Given the description of an element on the screen output the (x, y) to click on. 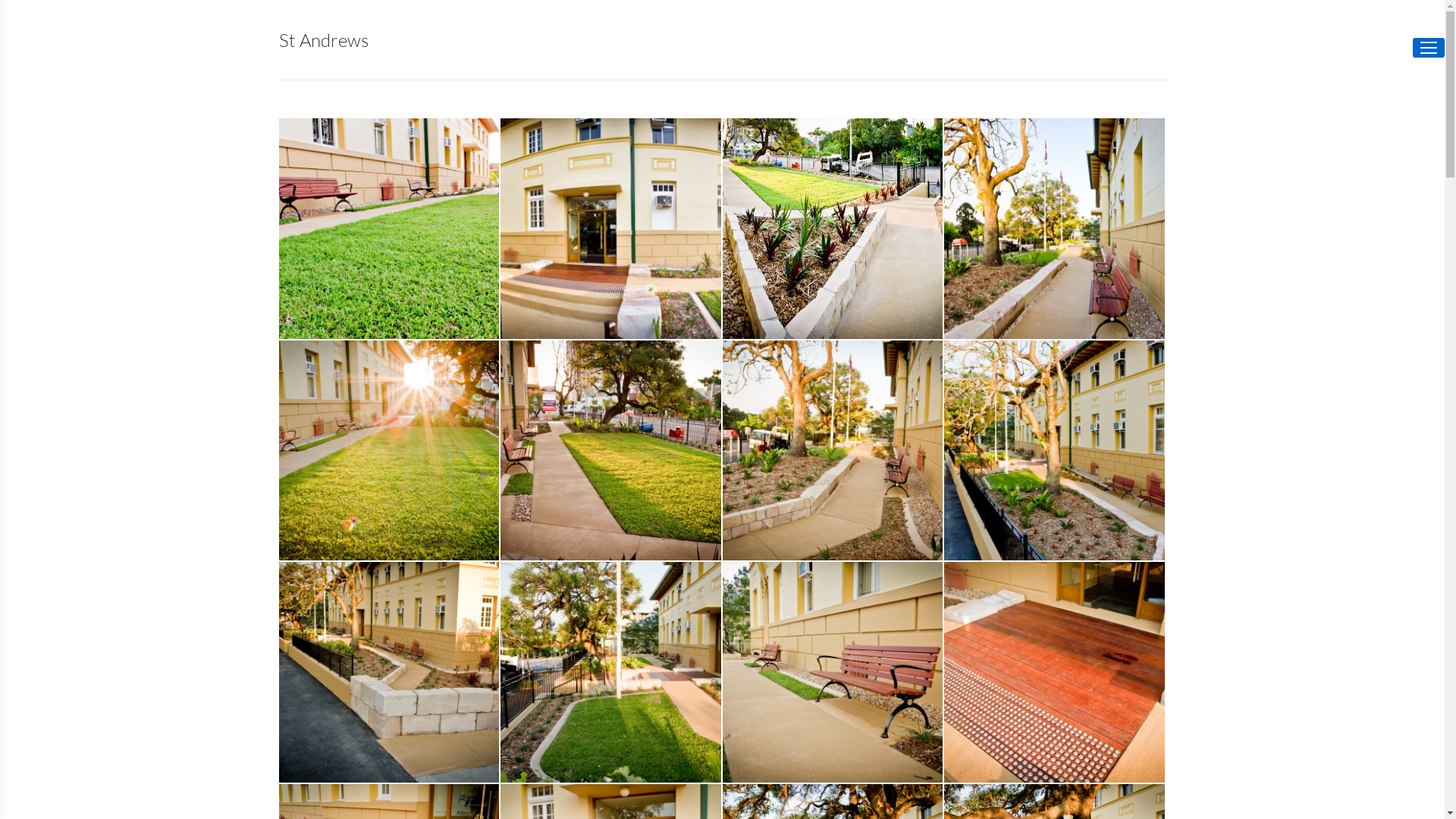
008 St Andrews Element type: hover (390, 672)
002 St Andrews Element type: hover (831, 228)
003 St Andrews Element type: hover (1054, 228)
001 St Andrews Element type: hover (610, 228)
004 St Andrews Element type: hover (389, 449)
002 St Andrews Element type: hover (832, 229)
005 St Andrews Element type: hover (611, 450)
008 St Andrews Element type: hover (389, 671)
001 St Andrews Element type: hover (611, 229)
006 St Andrews Element type: hover (831, 449)
010 St Andrews Element type: hover (832, 672)
010 St Andrews Element type: hover (831, 671)
009 St Andrews Element type: hover (611, 672)
007 St Andrews Element type: hover (1054, 449)
060 St Andrews Element type: hover (389, 228)
003 St Andrews Element type: hover (1055, 229)
005 St Andrews Element type: hover (610, 449)
Go! Element type: text (24, 17)
007 St Andrews Element type: hover (1055, 450)
060 St Andrews Element type: hover (390, 229)
011 St Andrews Element type: hover (1054, 671)
006 St Andrews Element type: hover (832, 450)
009 St Andrews Element type: hover (610, 671)
004 St Andrews Element type: hover (390, 450)
011 St Andrews Element type: hover (1055, 672)
